Given the description of an element on the screen output the (x, y) to click on. 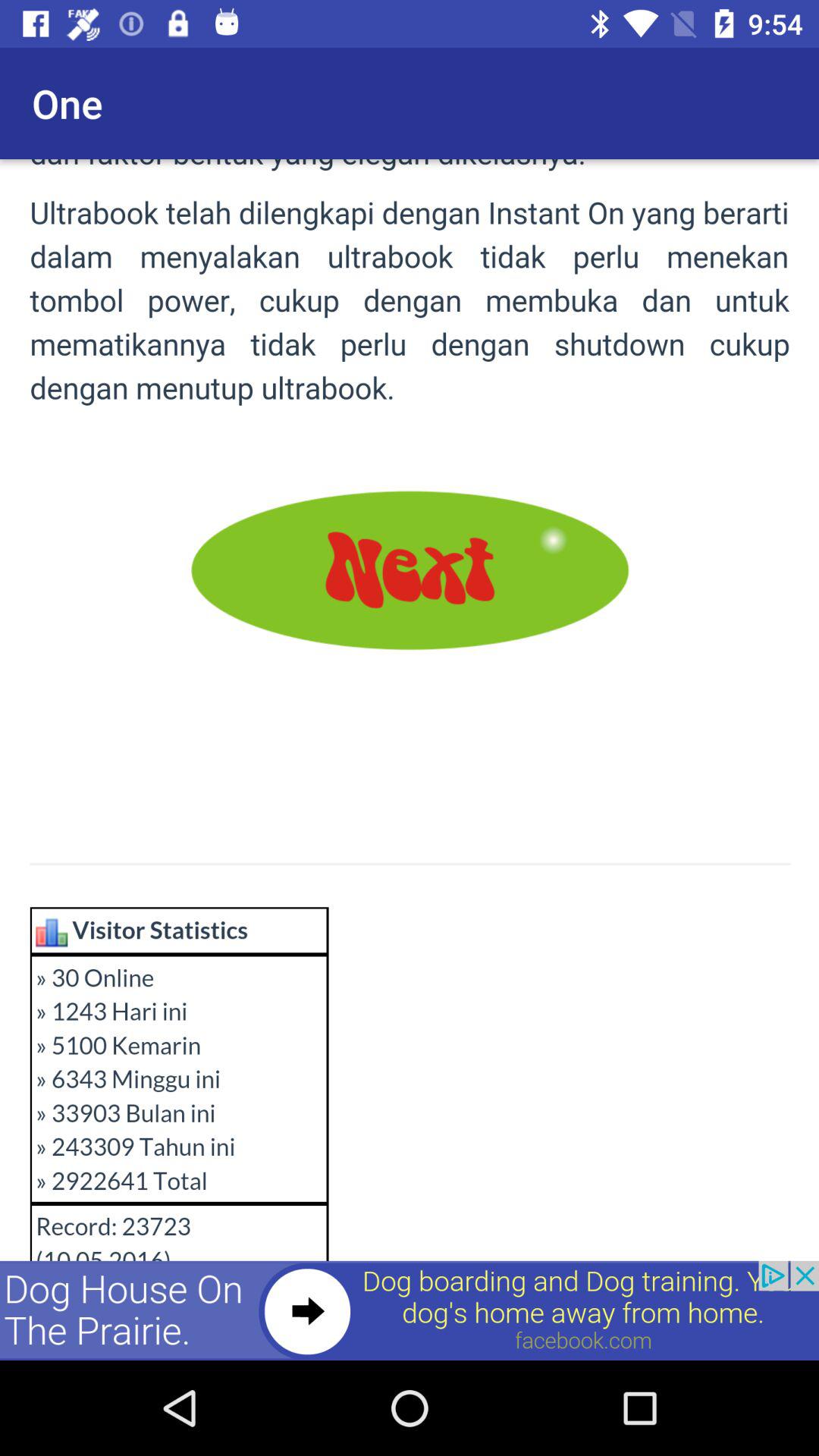
advertisement at bottom (409, 1310)
